Given the description of an element on the screen output the (x, y) to click on. 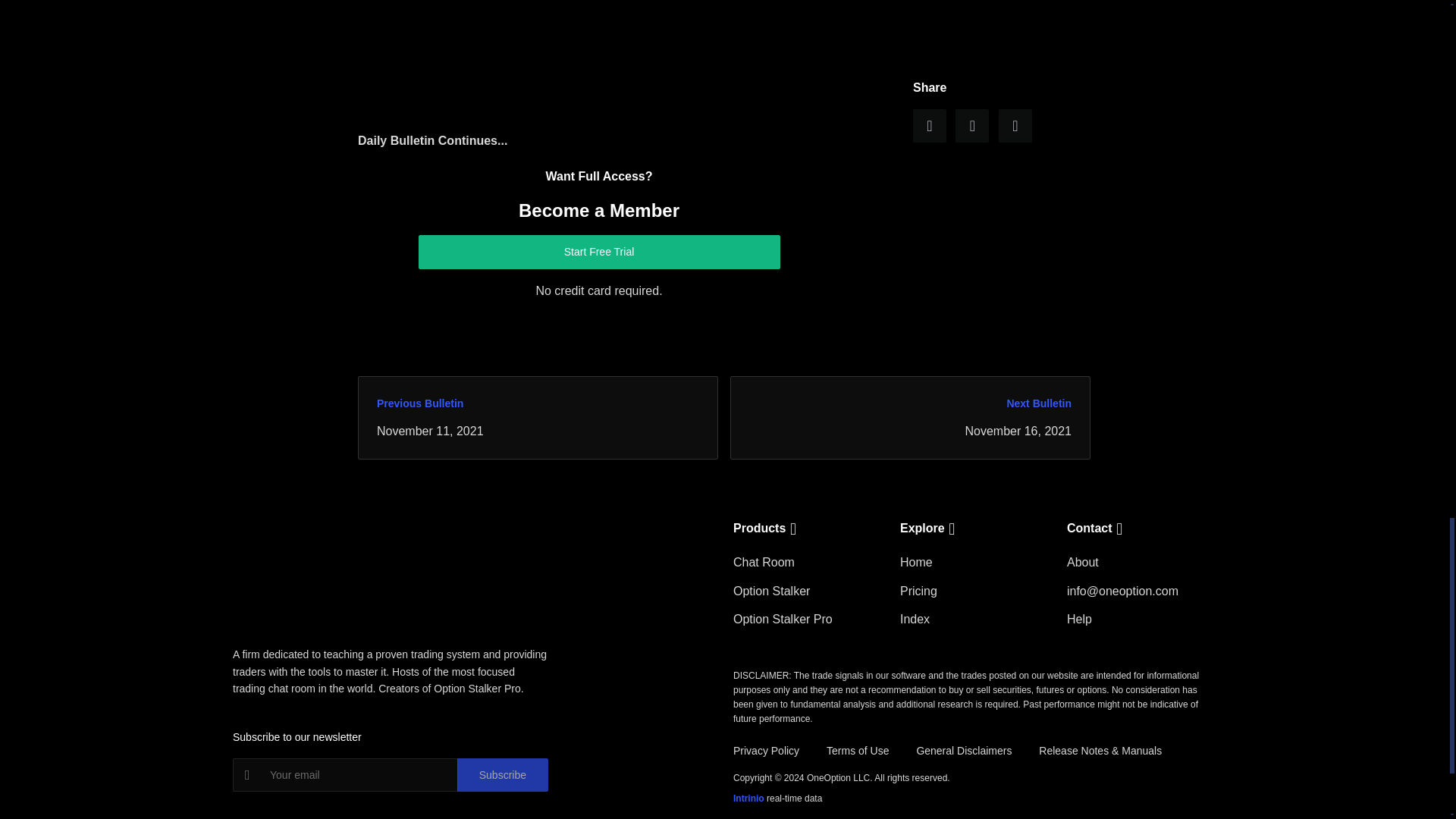
Subscribe (502, 774)
Start Free Trial (599, 251)
